Given the description of an element on the screen output the (x, y) to click on. 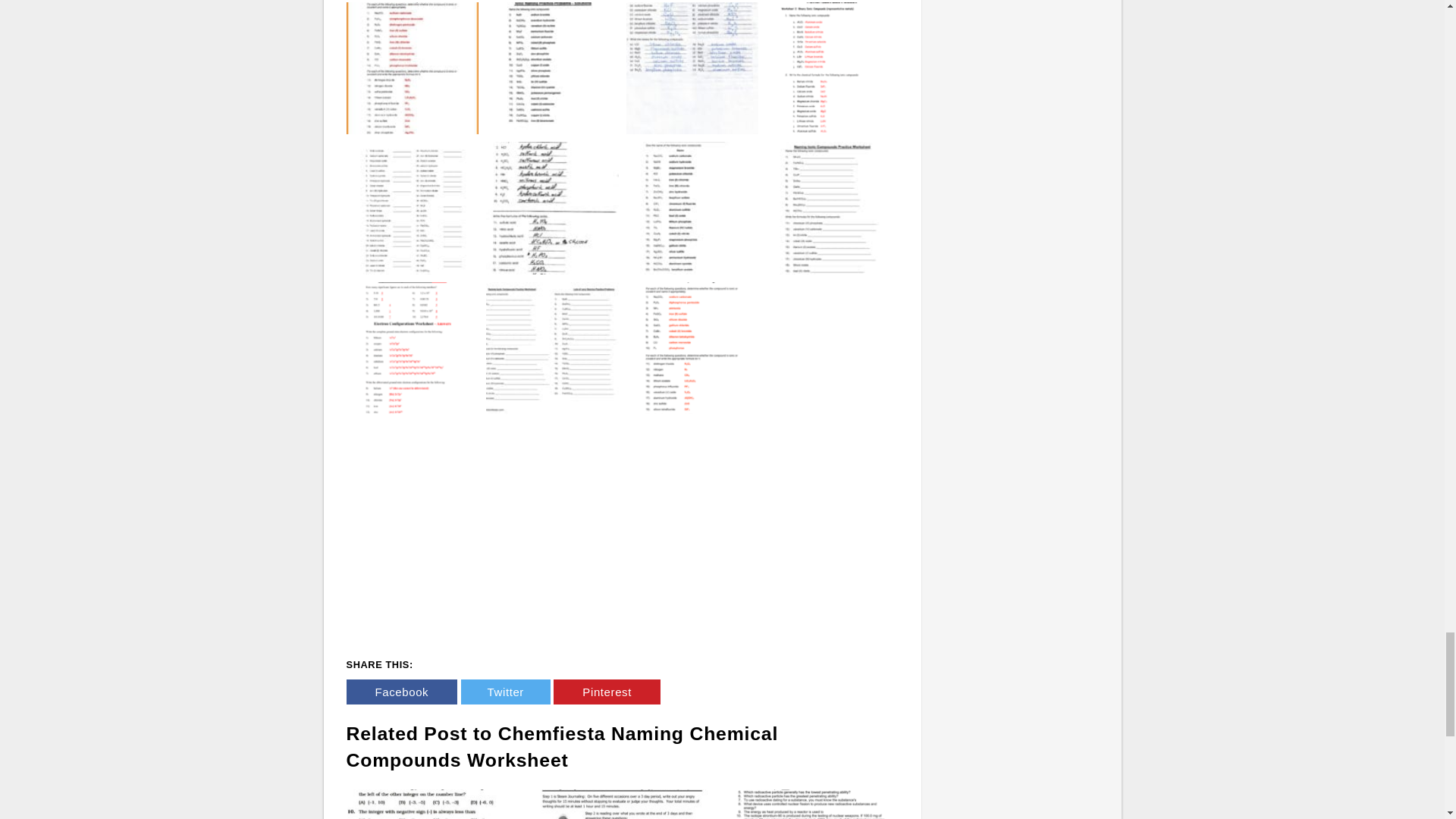
Twitter (505, 691)
Facebook (401, 691)
